Given the description of an element on the screen output the (x, y) to click on. 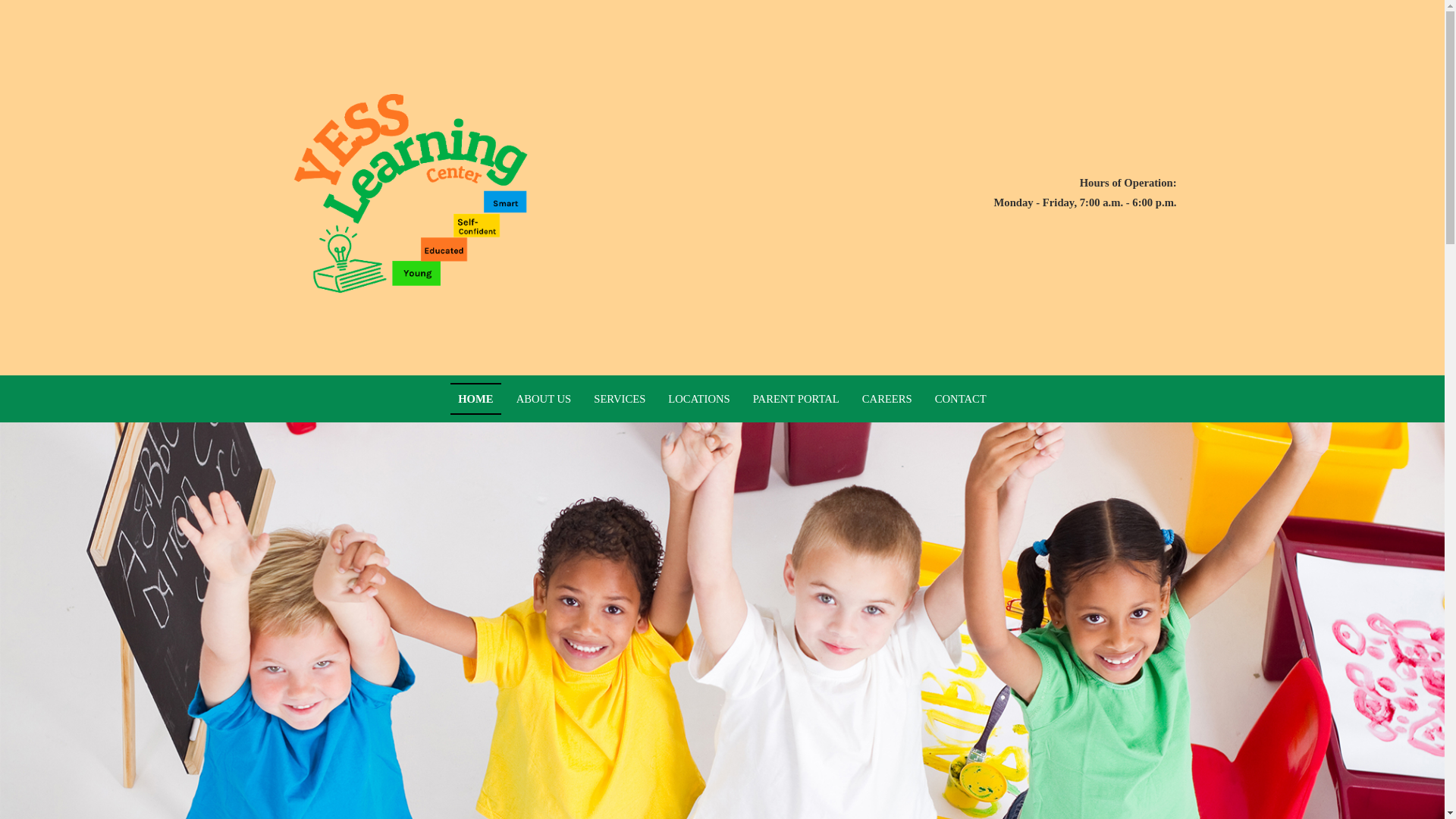
HOME (474, 398)
ABOUT US (543, 398)
CONTACT (960, 398)
LOCATIONS (698, 398)
SERVICES (619, 398)
2024 Logo (405, 193)
PARENT PORTAL (796, 398)
CAREERS (887, 398)
